Given the description of an element on the screen output the (x, y) to click on. 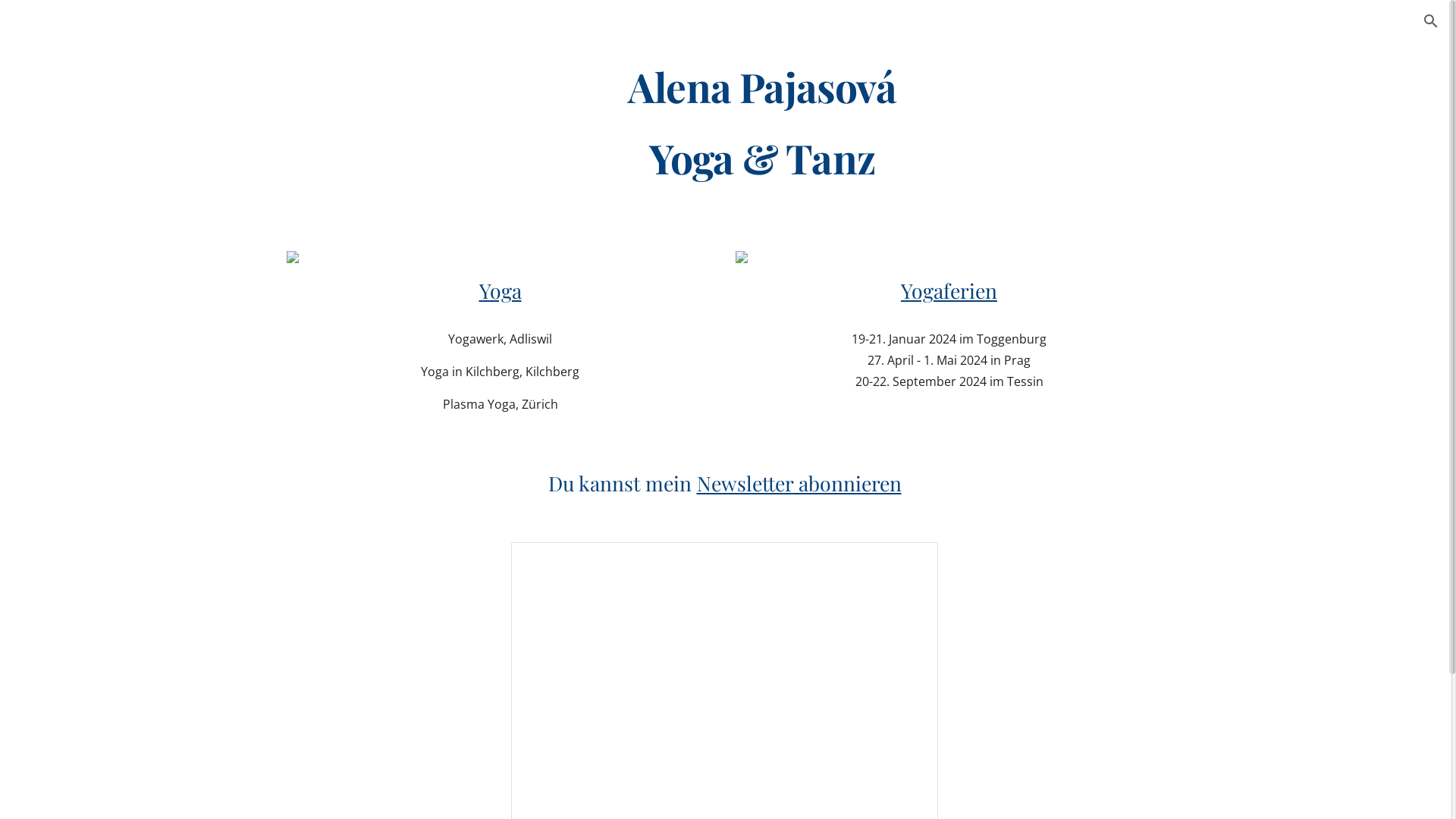
Yogaferien Element type: text (948, 290)
Newsletter abonnieren Element type: text (798, 482)
Yoga Element type: text (500, 290)
